Given the description of an element on the screen output the (x, y) to click on. 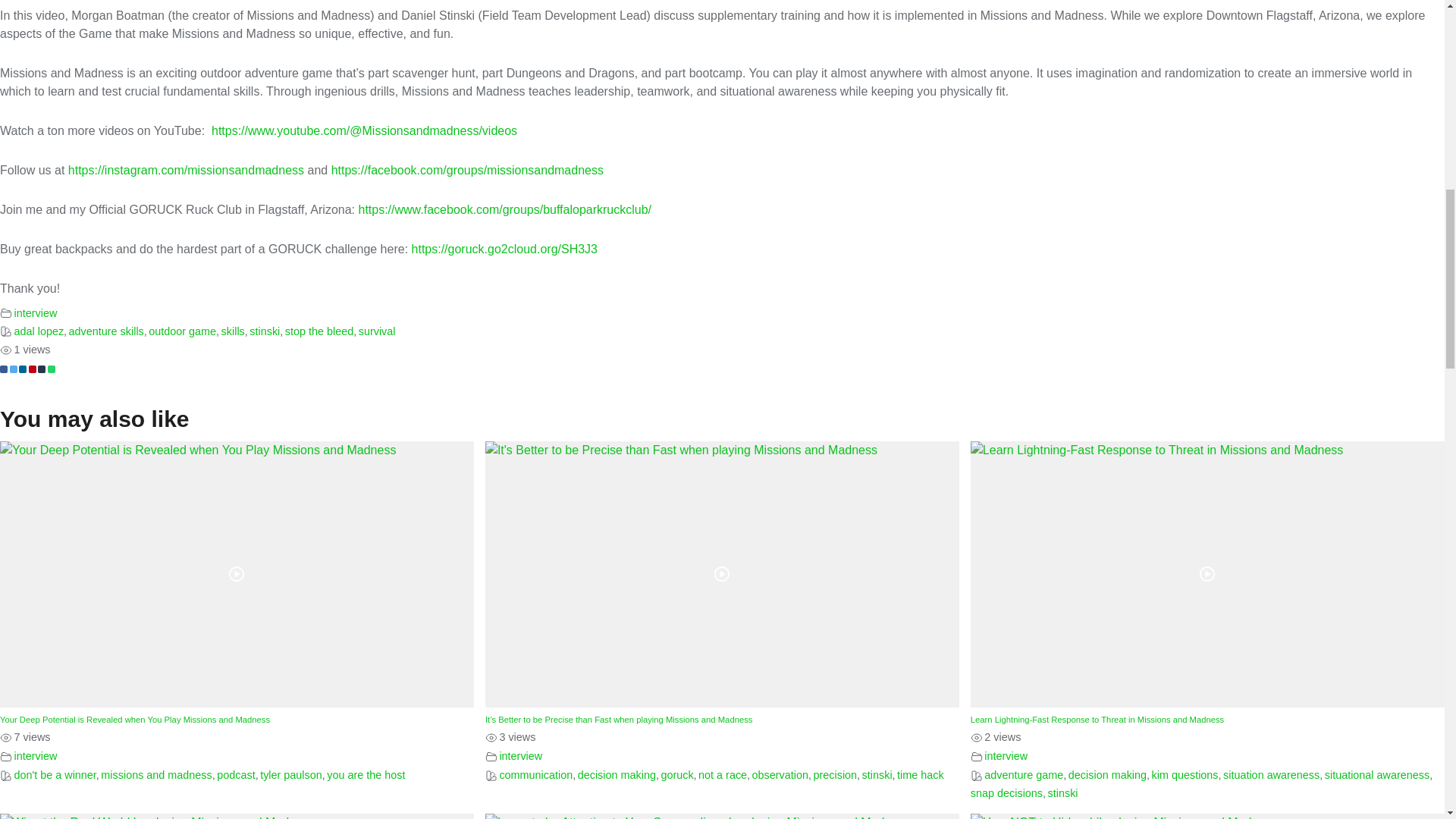
Facebook (3, 369)
Pin It (32, 369)
Tumblr (41, 369)
Linkedin (22, 369)
Twitter (12, 369)
interview (34, 312)
